Given the description of an element on the screen output the (x, y) to click on. 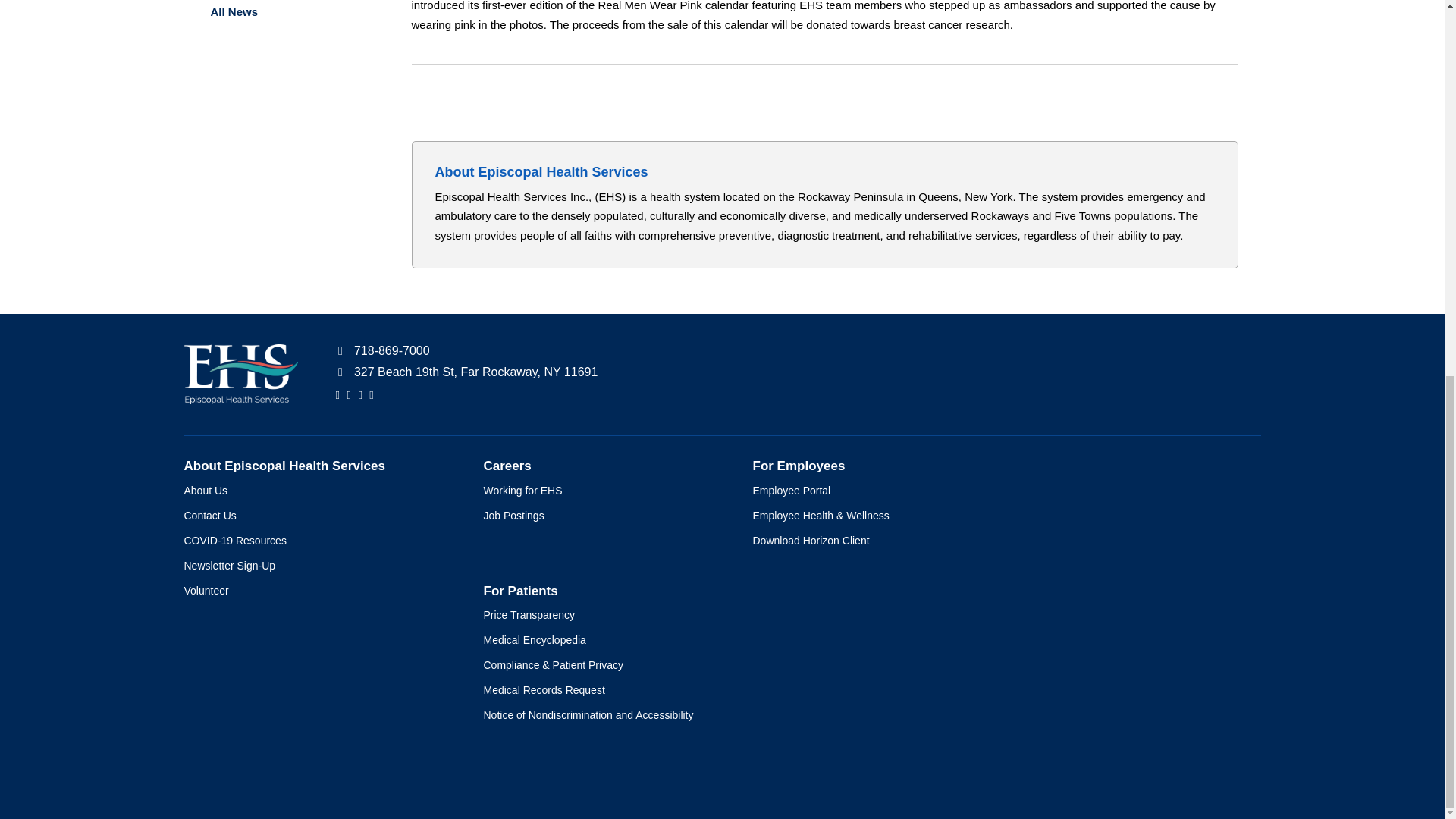
Instagram (370, 394)
LinkedIn (359, 394)
Employee Portal (871, 490)
Back to ehs.org homepage (240, 377)
COVID-19 Resources (317, 540)
Volunteer (317, 590)
Contact Us (317, 515)
Job Postings (602, 515)
About Us (317, 490)
Newsletter Sign-Up (317, 565)
All News (285, 12)
Facebook (336, 394)
Working for EHS (602, 490)
